Given the description of an element on the screen output the (x, y) to click on. 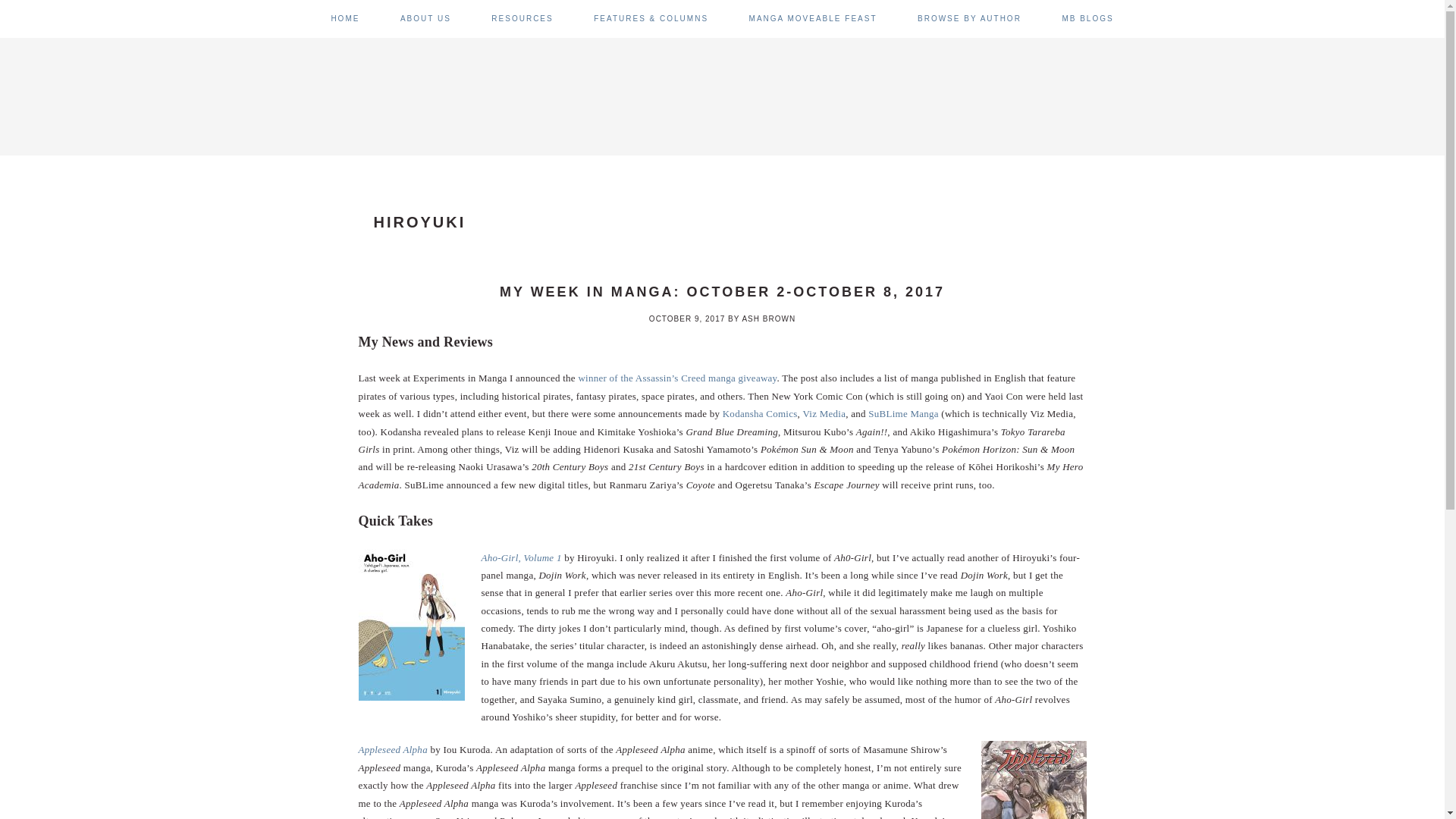
HOME (344, 18)
MANGA MOVEABLE FEAST (813, 18)
ABOUT US (425, 18)
RESOURCES (521, 18)
Posts by Ash Brown (767, 318)
